Given the description of an element on the screen output the (x, y) to click on. 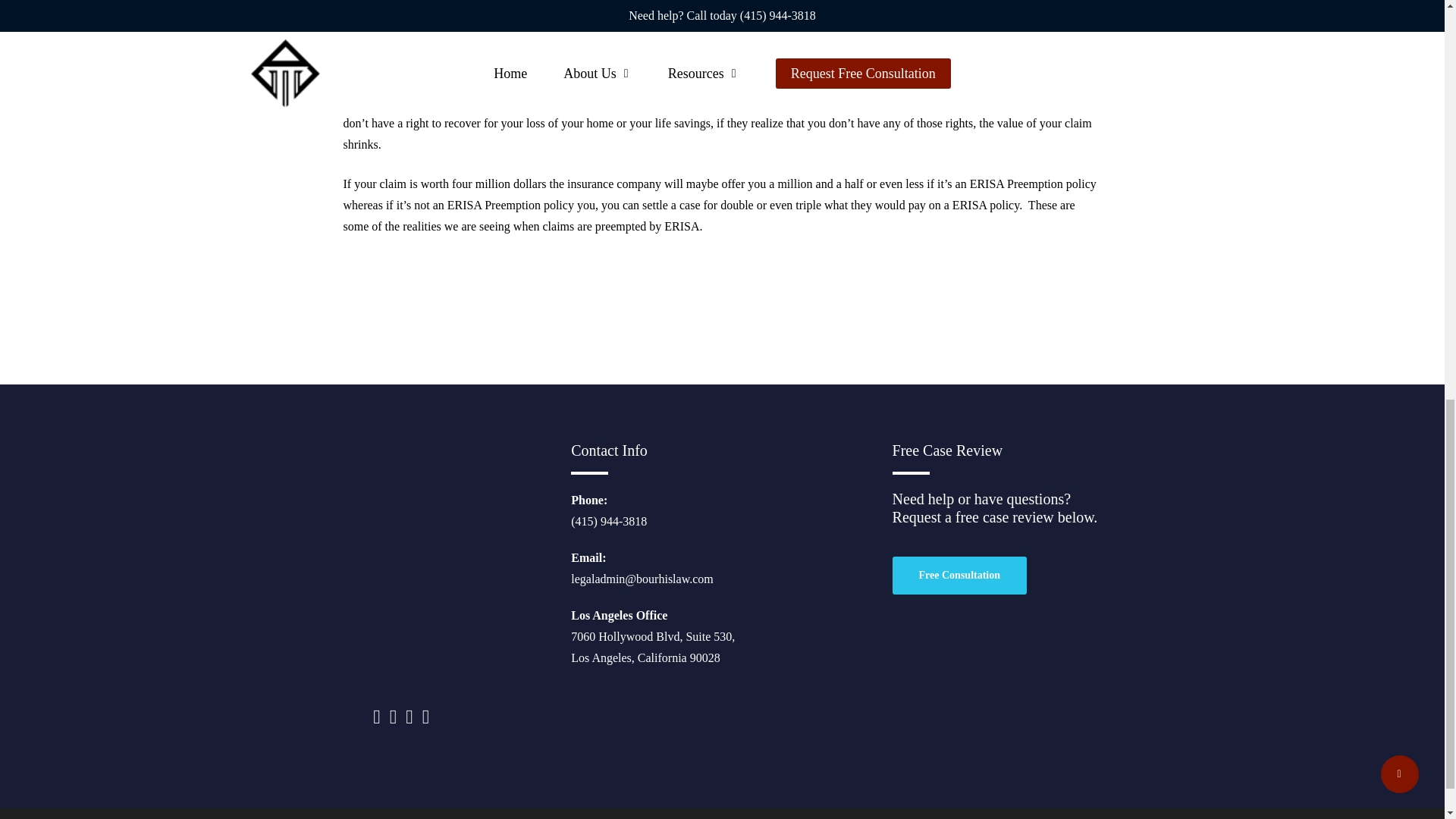
facebook (395, 717)
twitter (376, 717)
yelp (425, 717)
linkedin (411, 717)
